Given the description of an element on the screen output the (x, y) to click on. 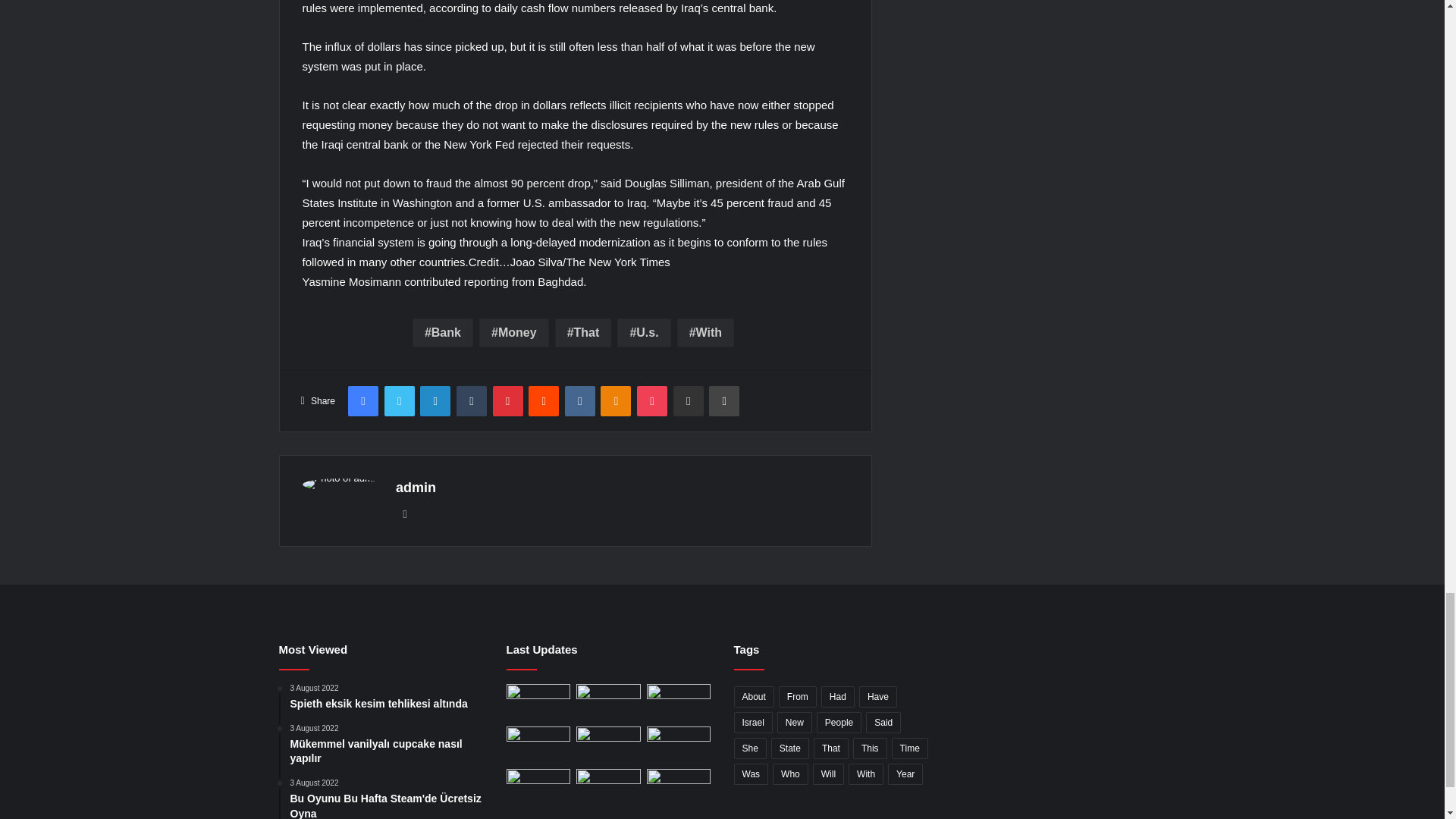
Bank (442, 332)
That (582, 332)
U.s. (643, 332)
Money (513, 332)
With (705, 332)
